Given the description of an element on the screen output the (x, y) to click on. 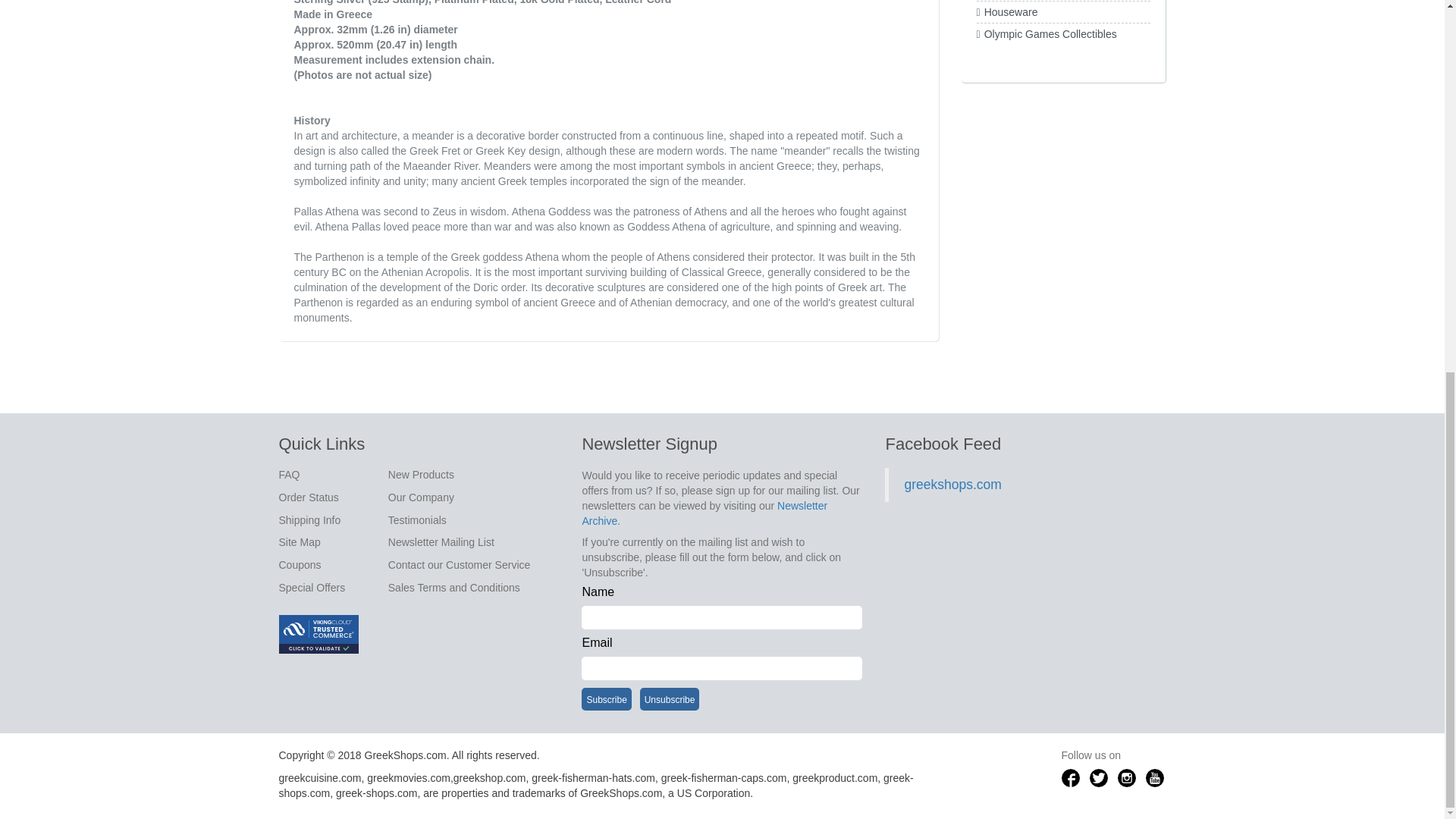
greekmovies.com (407, 777)
Subscribe (605, 698)
greek-shops.com (596, 785)
greekproduct.com (834, 777)
GreekShops.com (620, 793)
Unsubscribe (670, 698)
greekcostumes.us (376, 793)
greekcuisine.com (320, 777)
www.greek-fisherman-hats.com (593, 777)
